Given the description of an element on the screen output the (x, y) to click on. 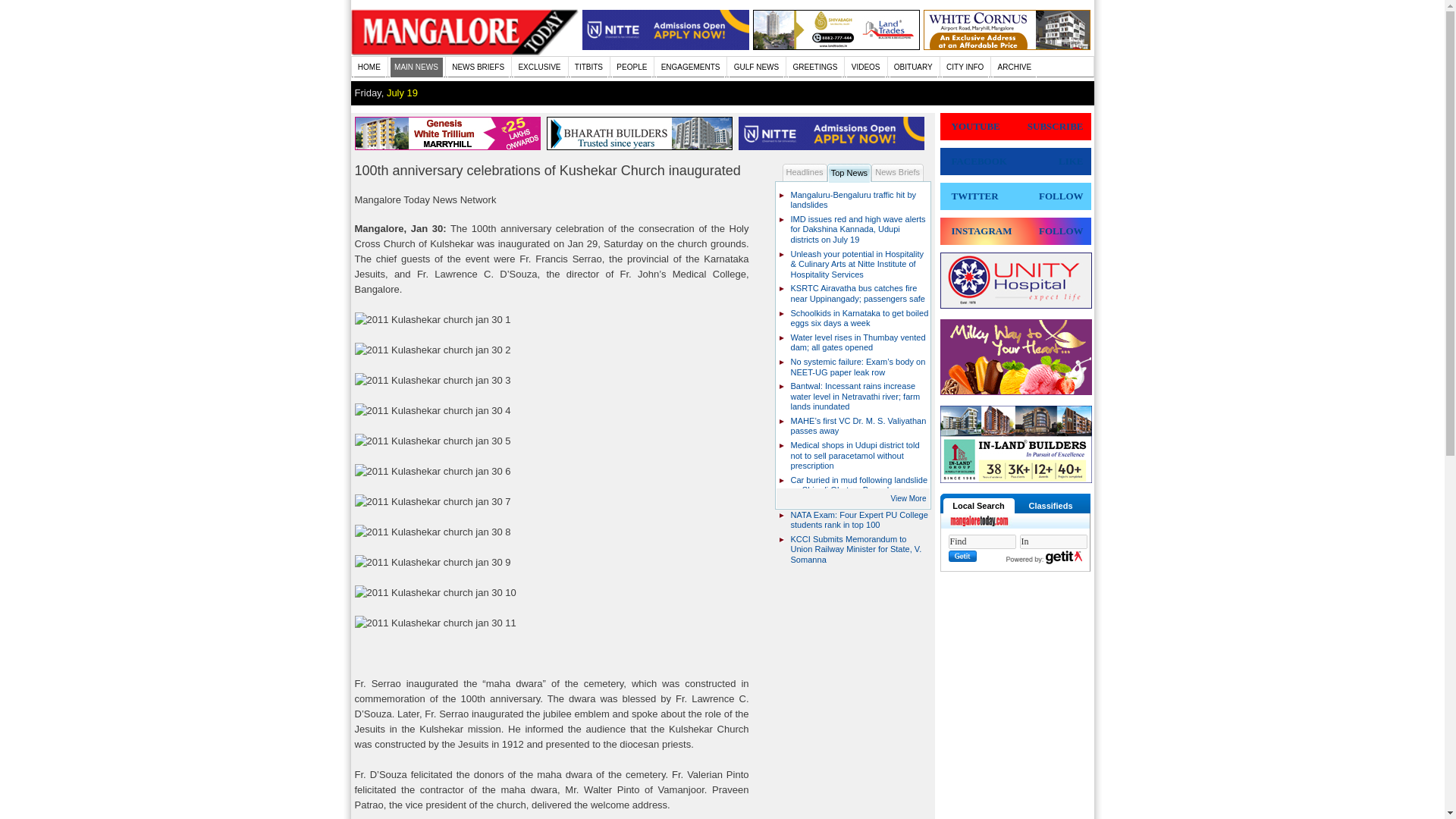
Nitte (665, 46)
GREETINGS (815, 66)
MAIN NEWS (417, 66)
PEOPLE (631, 66)
HOME (369, 66)
TITBITS (589, 66)
Nitte DU (834, 146)
Top News (849, 172)
News Briefs (896, 171)
OBITUARY (913, 66)
Headlines (805, 171)
VIDEOS (865, 66)
Find (980, 541)
ENGAGEMENTS (690, 66)
NEWS BRIEFS (477, 66)
